Given the description of an element on the screen output the (x, y) to click on. 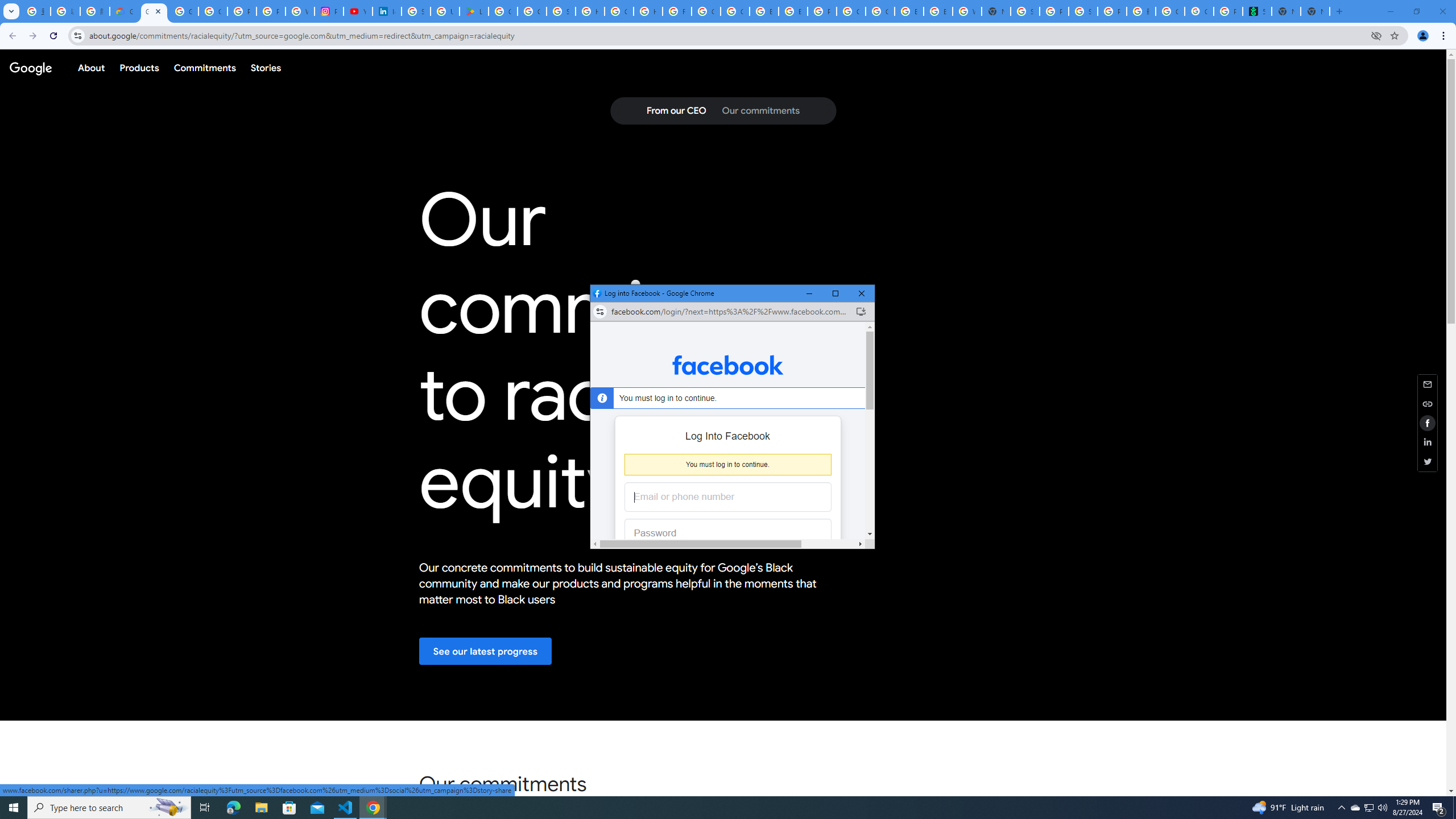
Password (719, 533)
Running applications (717, 807)
Microsoft Store (289, 807)
Maximize (835, 293)
Task View (204, 807)
Google Chrome - 4 running windows (373, 807)
Microsoft Edge (1355, 807)
Show desktop (233, 807)
Q2790: 100% (1454, 807)
